Given the description of an element on the screen output the (x, y) to click on. 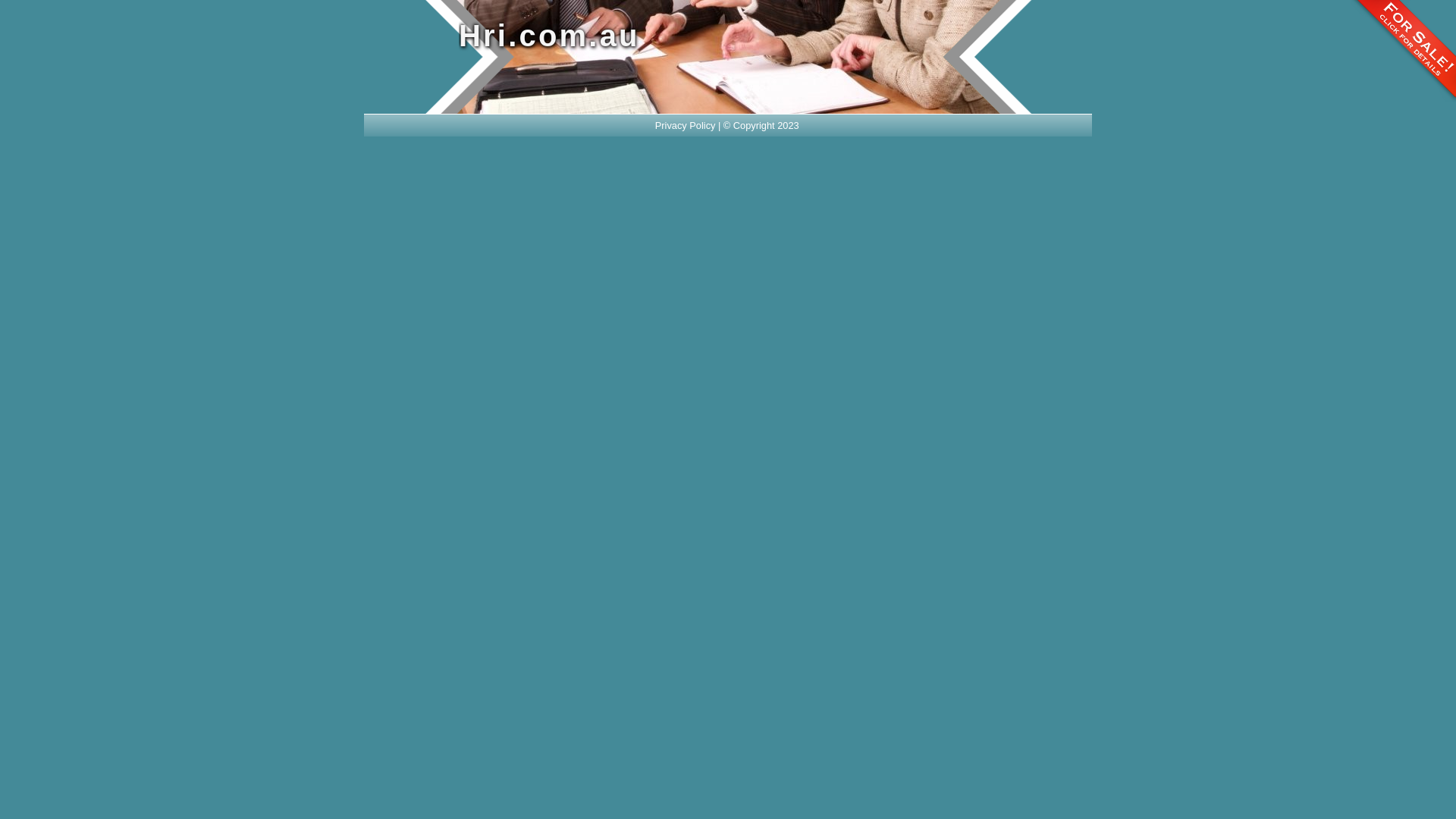
Hri.com.au Element type: text (674, 35)
Privacy Policy Element type: text (685, 125)
